Given the description of an element on the screen output the (x, y) to click on. 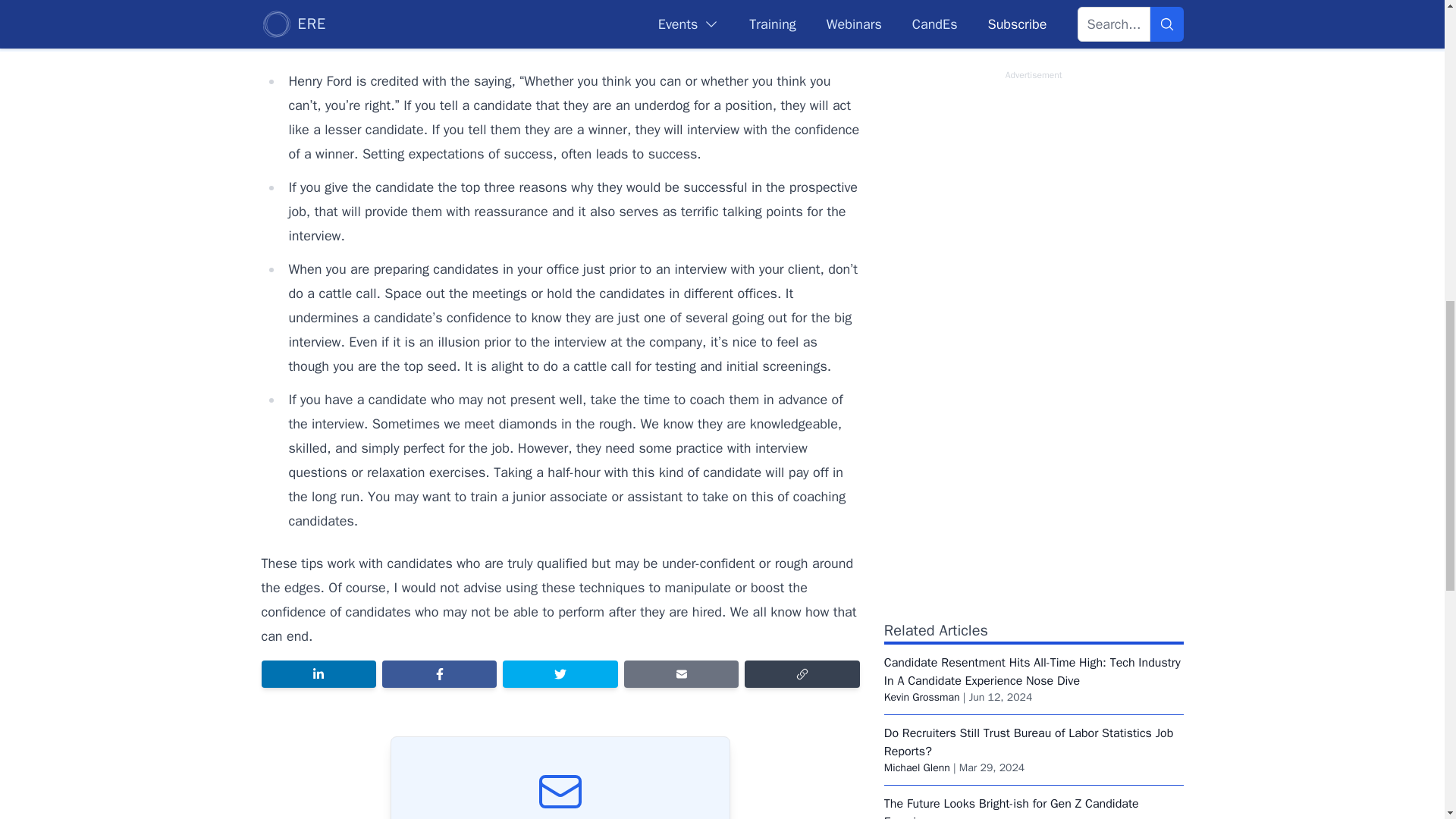
Kevin Grossman (921, 697)
The Future Looks Bright-ish for Gen Z Candidate Experience (1010, 807)
Michael Glenn (916, 767)
